Given the description of an element on the screen output the (x, y) to click on. 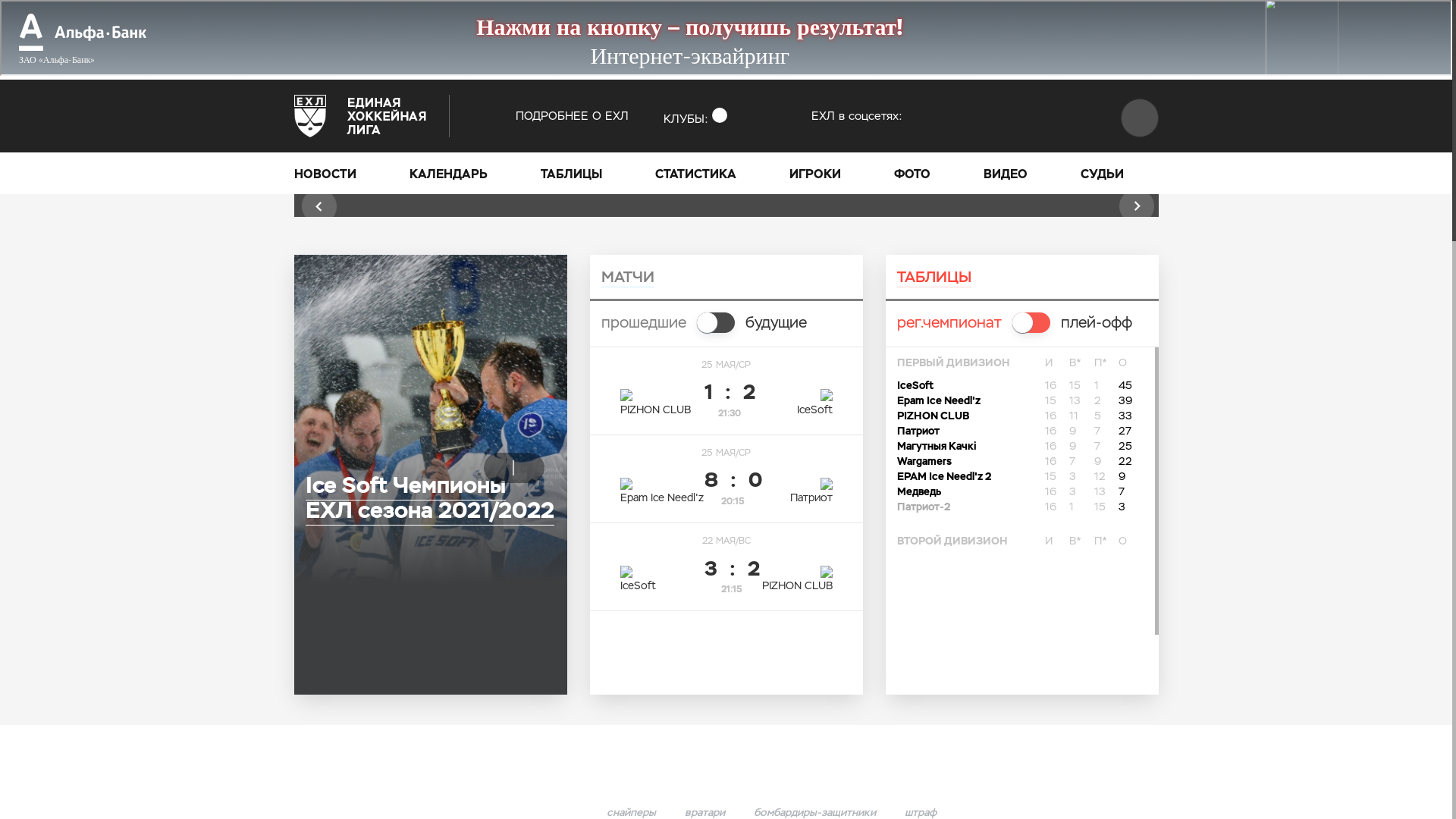
PIZHON CLUB Element type: text (932, 415)
Epam Ice Needl'z Element type: text (937, 400)
EPAM Ice Needl'z 2 Element type: text (943, 476)
Wargamers Element type: text (923, 460)
IceSoft Element type: text (914, 385)
